Given the description of an element on the screen output the (x, y) to click on. 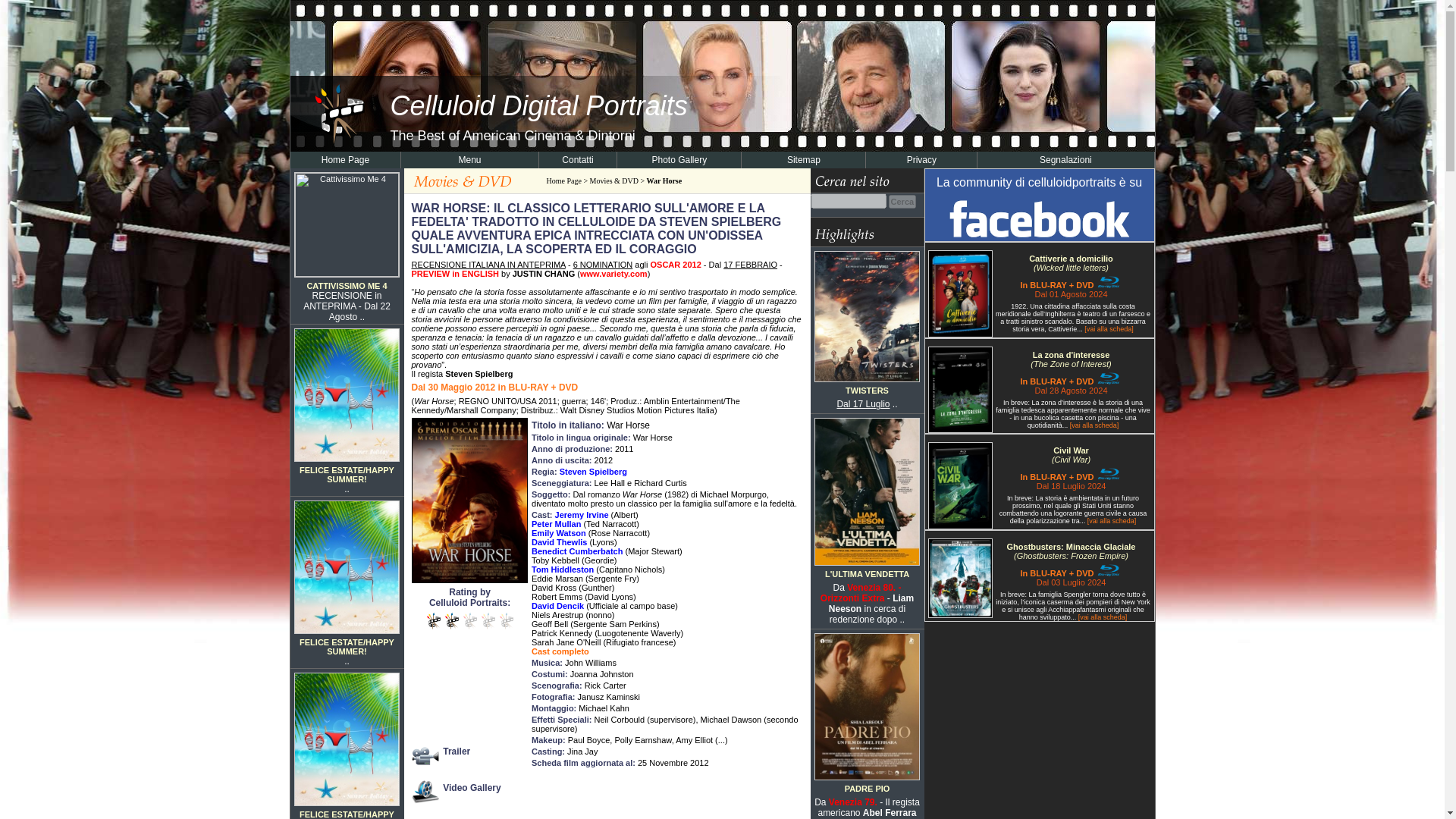
.. (346, 489)
La scheda di Benedict Cumberbatch (577, 551)
Privacy (921, 159)
La scheda di Tom Hiddleston (562, 569)
La scheda di Jeremy Irvine (581, 514)
Menu (469, 159)
Home Page (345, 159)
Sitemap (804, 159)
La scheda di David Dencik (557, 605)
RECENSIONE in ANTEPRIMA - Dal 22 Agosto .. (346, 306)
Cerca (902, 201)
Contatti (577, 159)
Photo Gallery (678, 159)
CATTIVISSIMO ME 4 (346, 285)
La scheda di David Thewlis (558, 542)
